Given the description of an element on the screen output the (x, y) to click on. 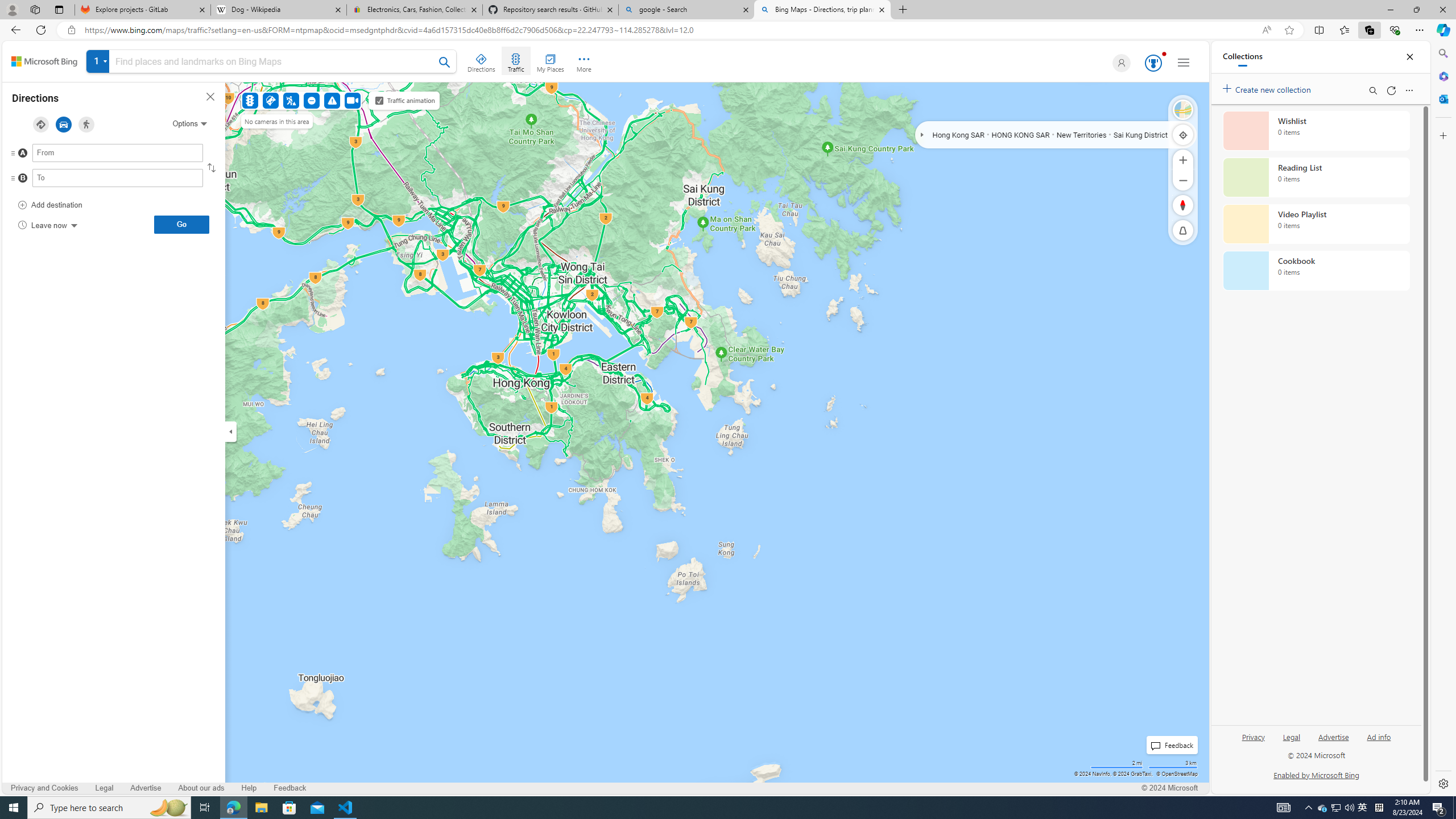
Search Bing Maps (444, 61)
Traffic (249, 100)
Miscellaneous incidents (332, 100)
 View all your searches (97, 60)
Default Profile Picture (1119, 62)
Road Closures (312, 100)
My Places (549, 60)
1 (270, 62)
B (95, 181)
Privacy and Cookies (44, 787)
New Tab (903, 9)
Wishlist collection, 0 items (1316, 130)
google - Search (685, 9)
